Given the description of an element on the screen output the (x, y) to click on. 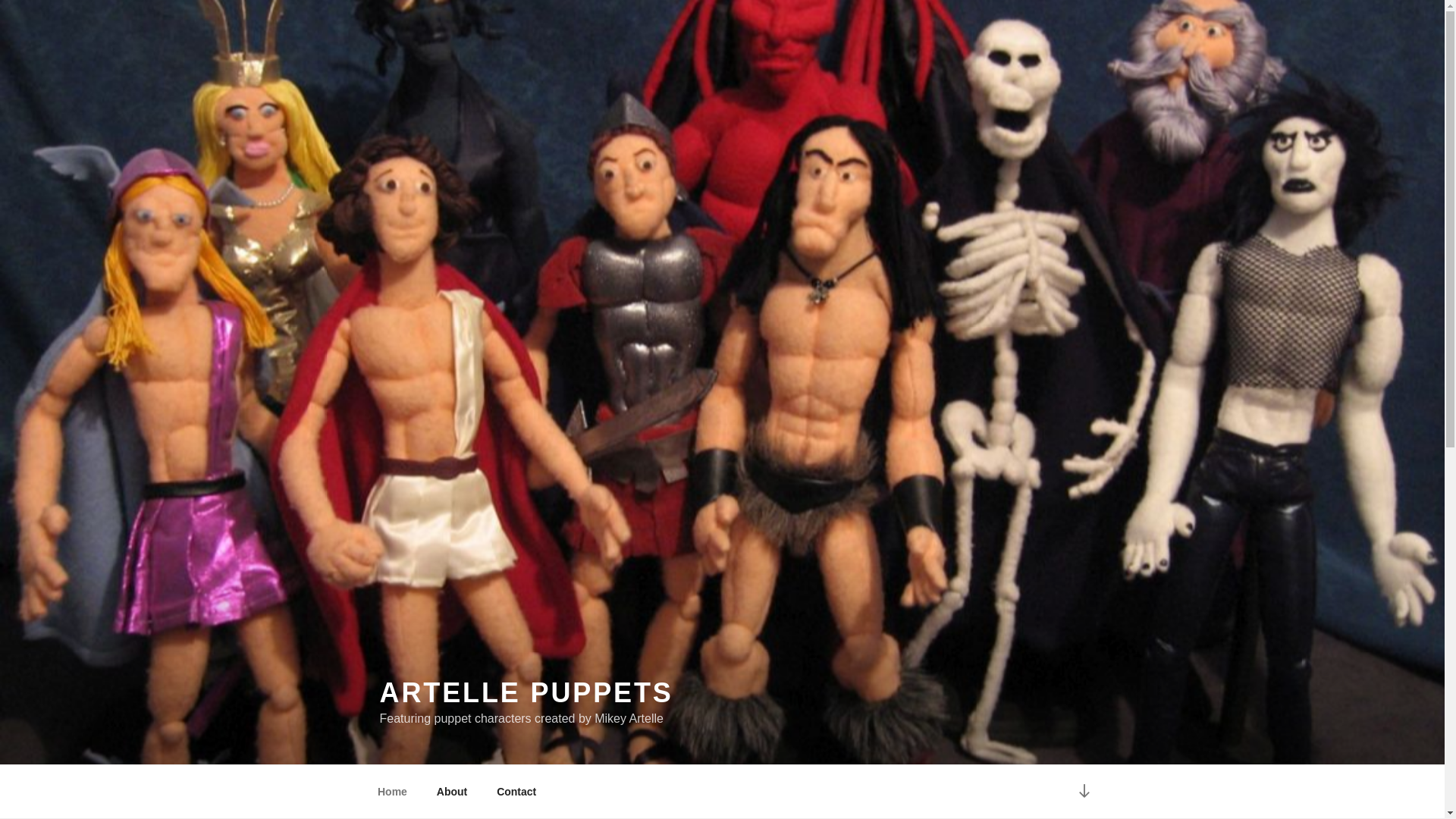
Skip to content Element type: text (0, 0)
ARTELLE PUPPETS Element type: text (525, 692)
About Element type: text (451, 791)
Contact Element type: text (516, 791)
Scroll down to content Element type: text (1083, 790)
Home Element type: text (392, 791)
